Given the description of an element on the screen output the (x, y) to click on. 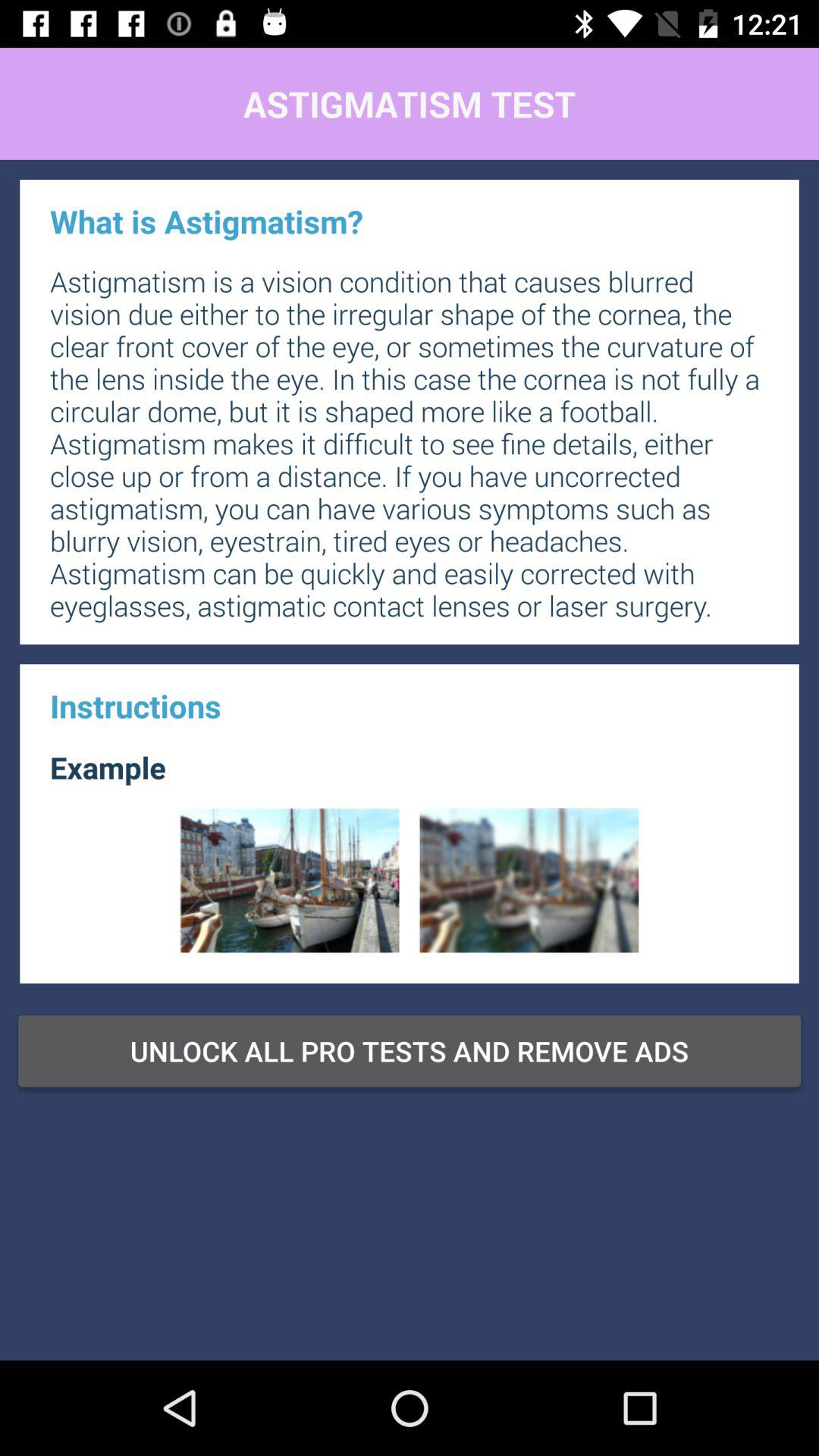
flip to the unlock all pro icon (409, 1050)
